Given the description of an element on the screen output the (x, y) to click on. 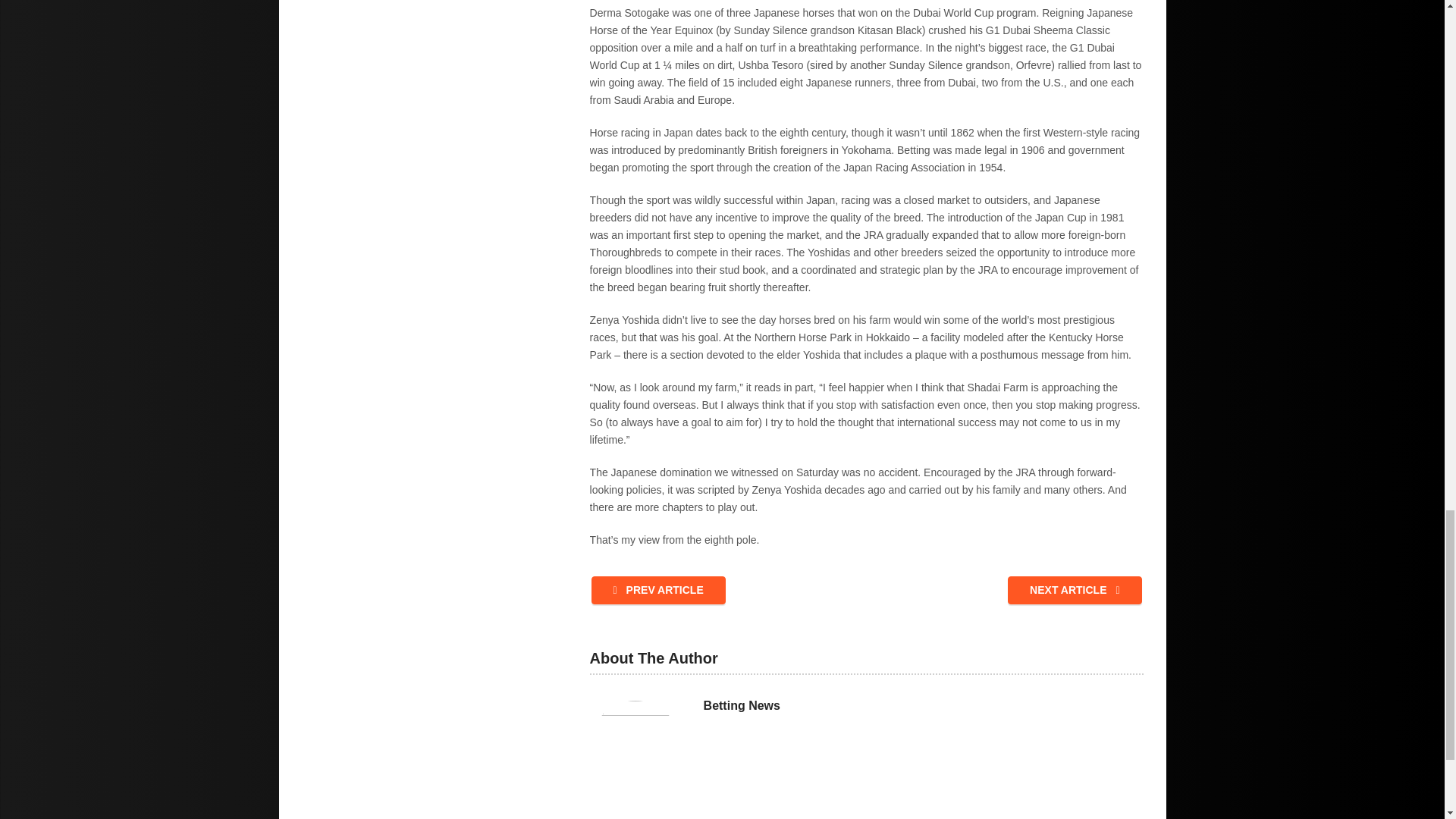
NEXT ARTICLE (1074, 590)
Betting News (741, 705)
PREV ARTICLE (658, 590)
